Given the description of an element on the screen output the (x, y) to click on. 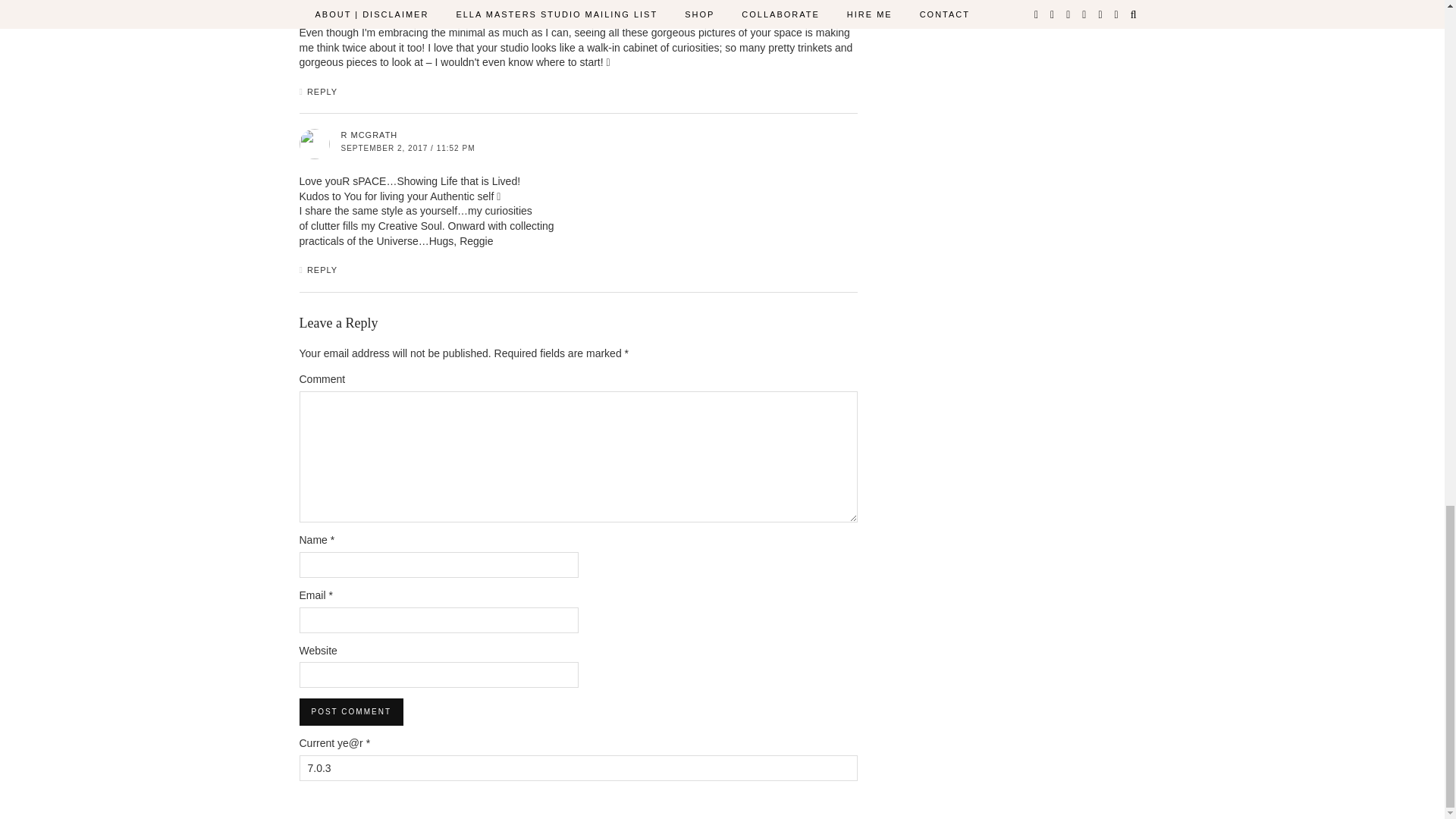
7.0.3 (577, 768)
Post Comment (350, 711)
R MCGRATH (368, 134)
REPLY (322, 91)
